Given the description of an element on the screen output the (x, y) to click on. 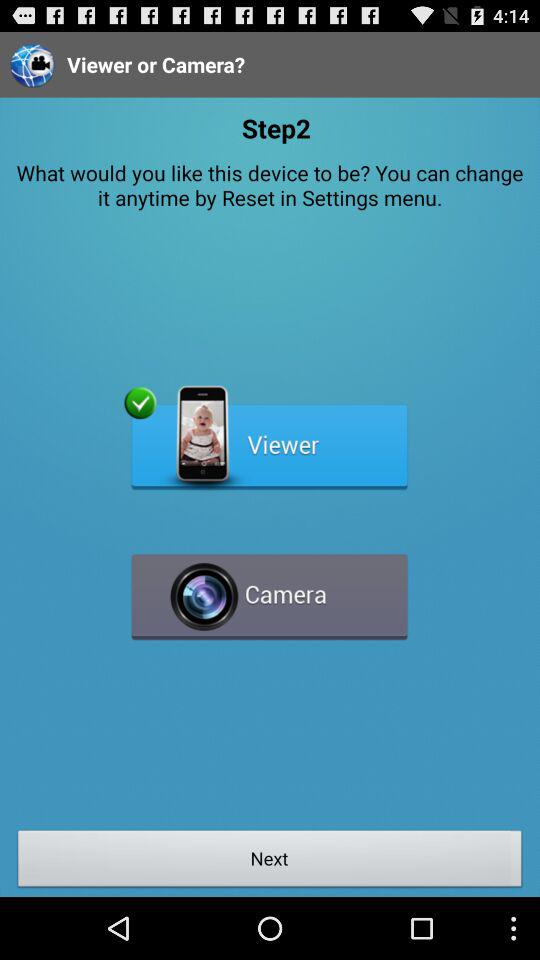
open icon above the next (269, 588)
